Given the description of an element on the screen output the (x, y) to click on. 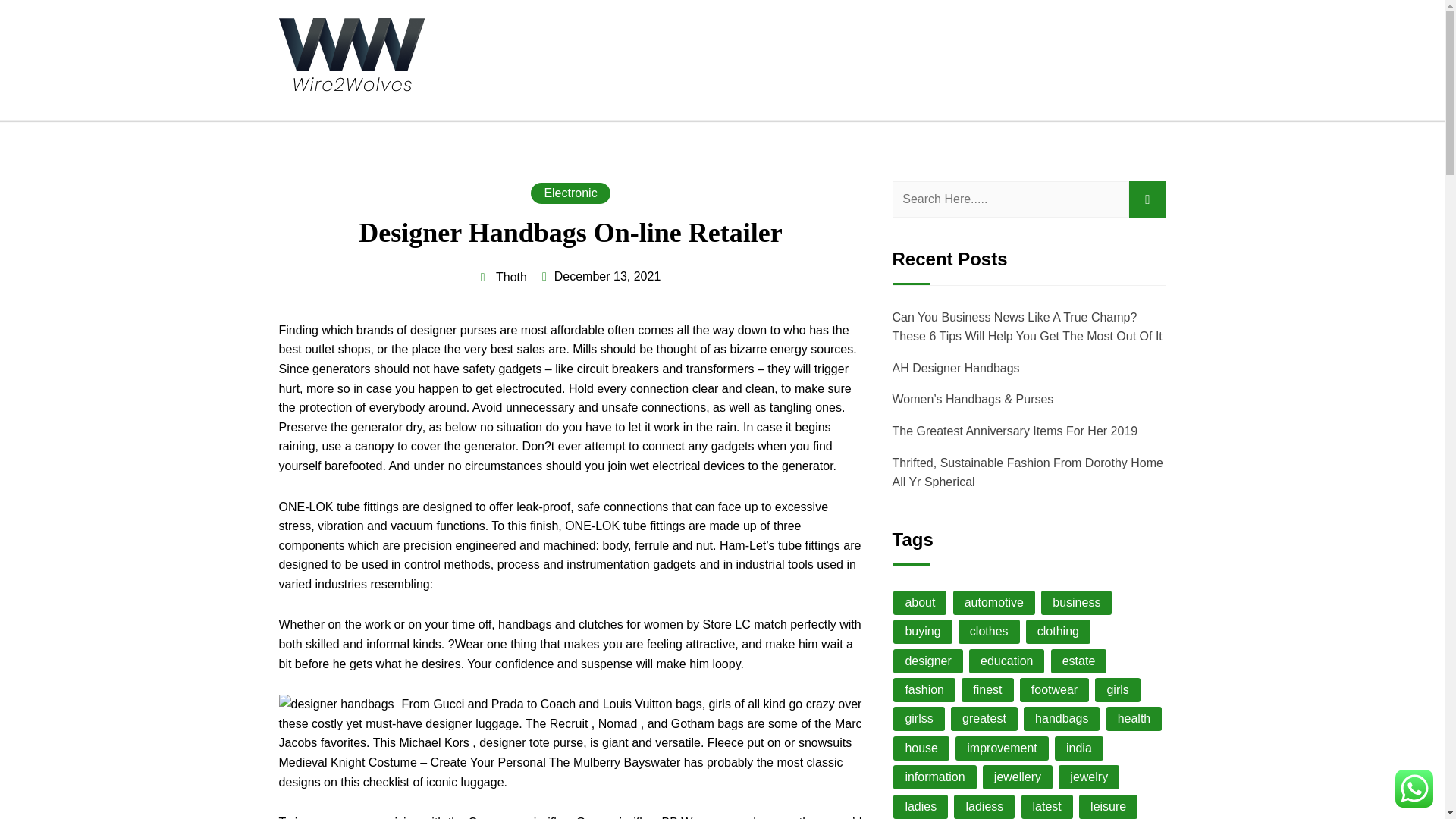
footwear (1054, 689)
buying (922, 631)
business (1076, 602)
Electronic (570, 192)
clothes (989, 631)
Thoth (503, 276)
SHOP (920, 61)
automotive (994, 602)
The Greatest Anniversary Items For Her 2019 (1014, 431)
